Given the description of an element on the screen output the (x, y) to click on. 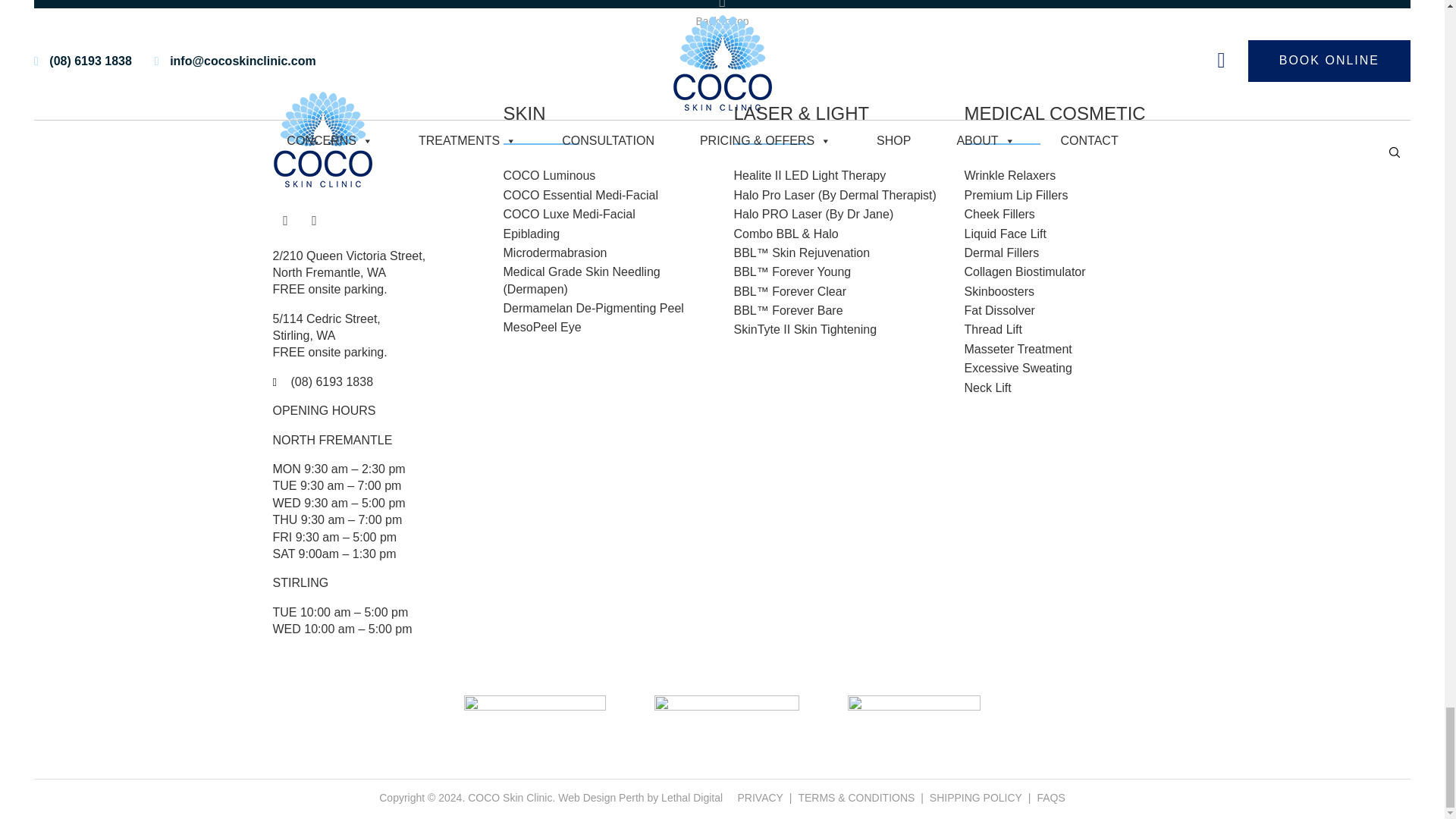
Instagram (314, 219)
Back to top (721, 15)
Facebook (285, 219)
